Given the description of an element on the screen output the (x, y) to click on. 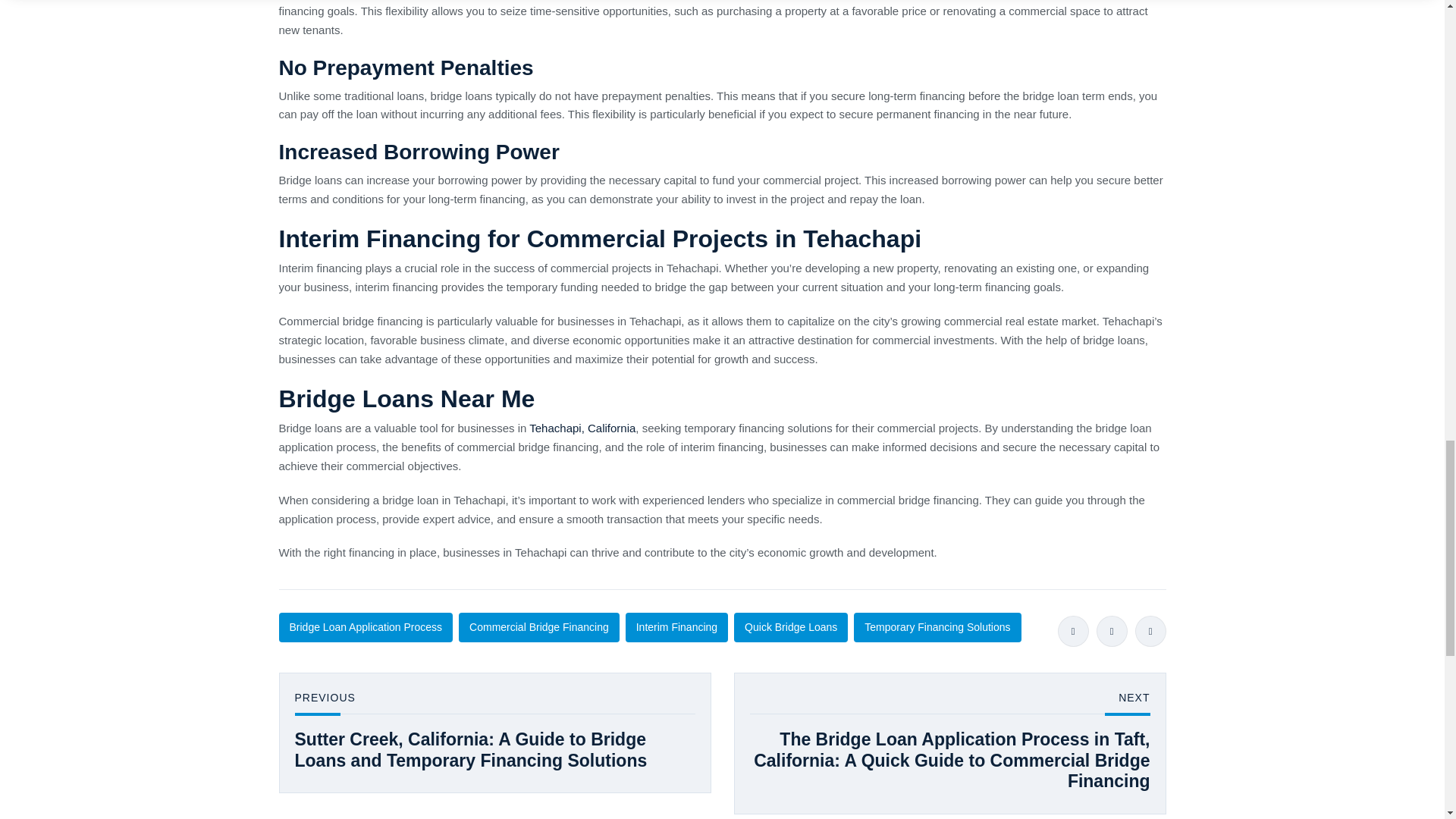
Linkedin (1150, 631)
Facebook (1072, 631)
Twitter (1111, 631)
